Given the description of an element on the screen output the (x, y) to click on. 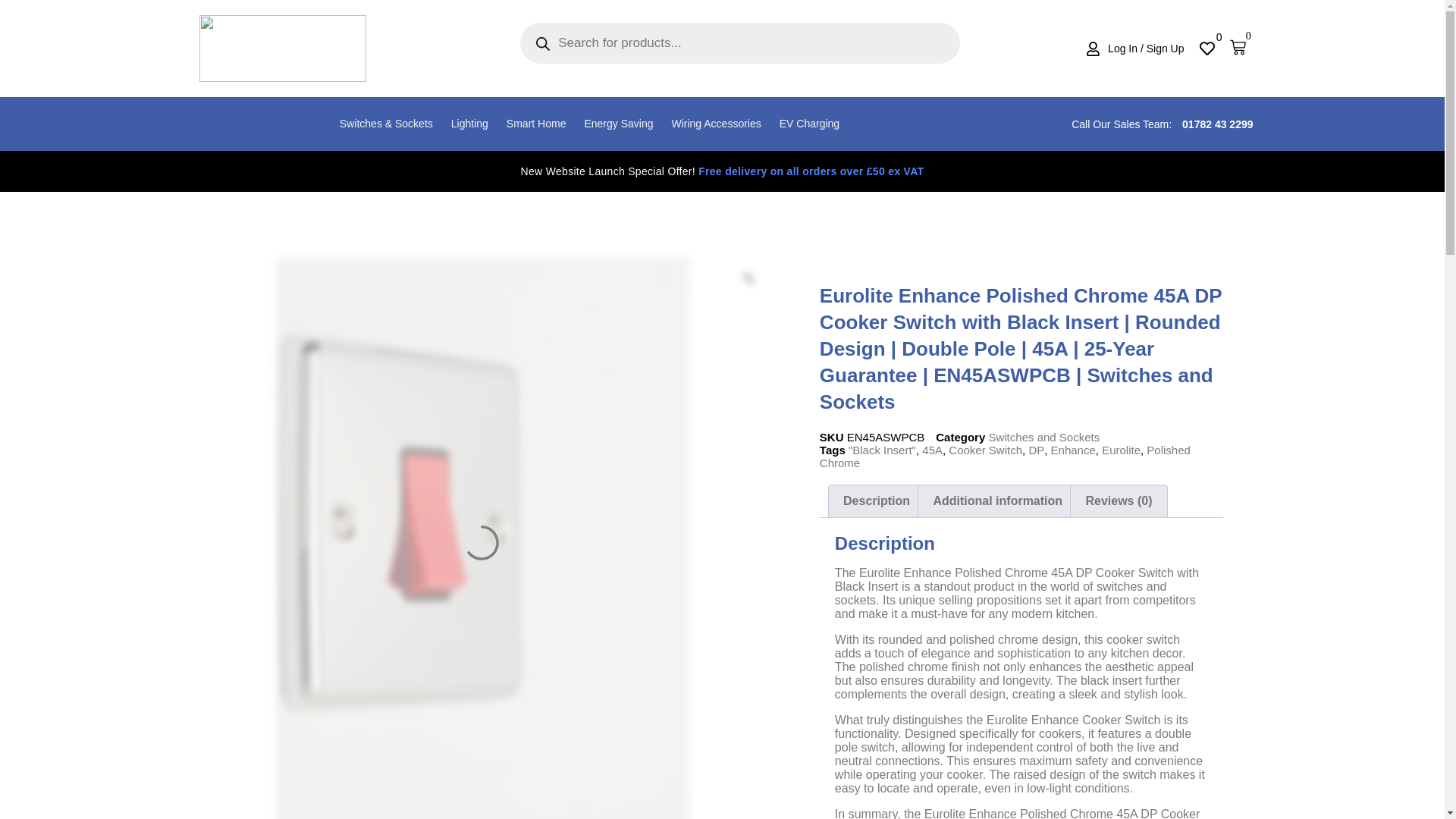
Additional information (997, 500)
Polished Chrome (1005, 456)
Smart Home (536, 123)
Wiring Accessories (716, 123)
Cooker Switch (985, 449)
Eurolite (1121, 449)
DP (1035, 449)
"Black Insert" (881, 449)
45A (931, 449)
Enhance (1073, 449)
Energy Saving (618, 123)
Call Our Sales Team: 01782 43 2299 (1161, 123)
EV Charging (809, 123)
Switches and Sockets (1043, 436)
